Given the description of an element on the screen output the (x, y) to click on. 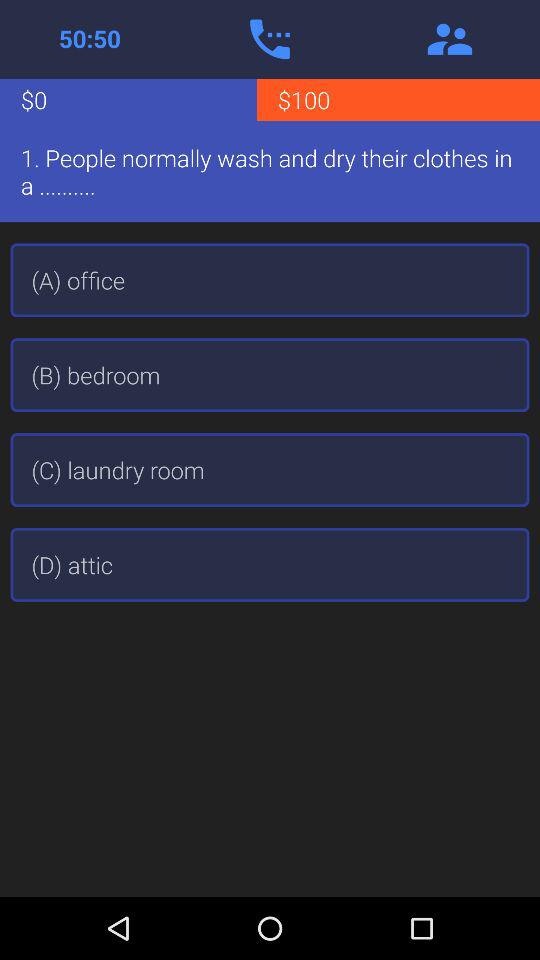
scroll until the (d) attic (269, 564)
